Given the description of an element on the screen output the (x, y) to click on. 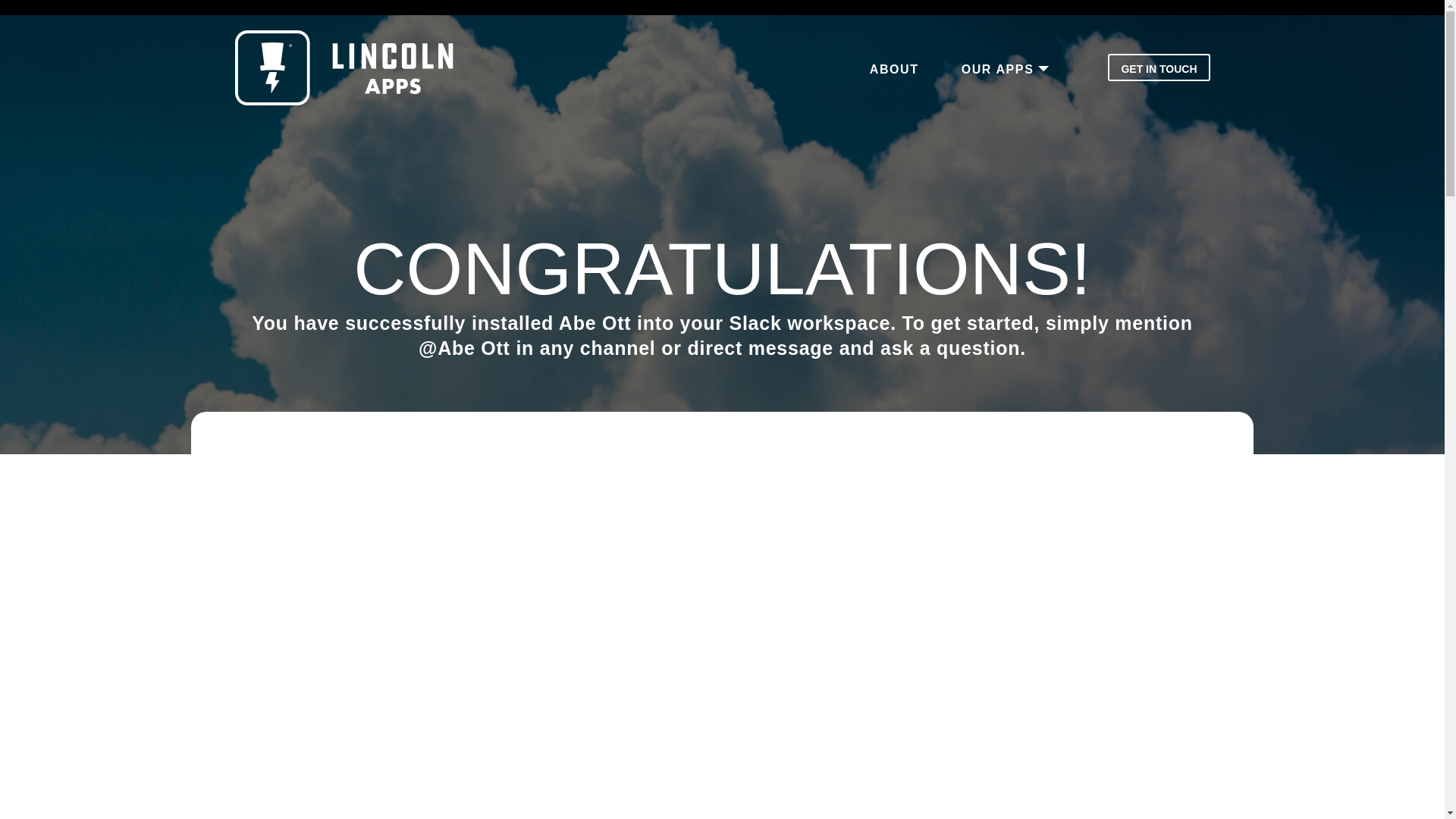
ABOUT (894, 69)
GET IN TOUCH (1158, 67)
OUR APPS (997, 69)
